Given the description of an element on the screen output the (x, y) to click on. 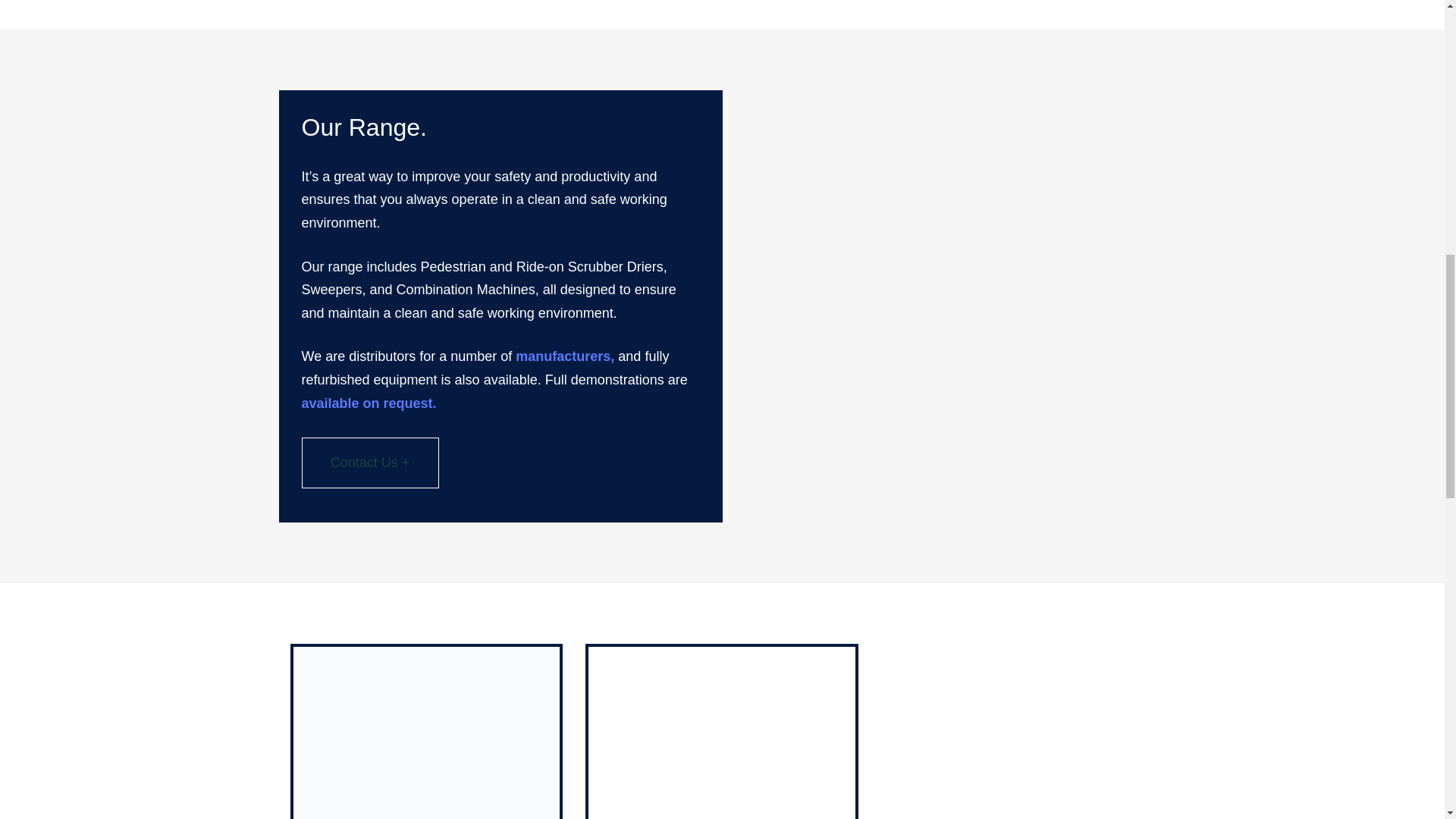
Industrial Cleaning Equipment 2 (722, 733)
Industrial Cleaning Equipment 1 (425, 733)
